Given the description of an element on the screen output the (x, y) to click on. 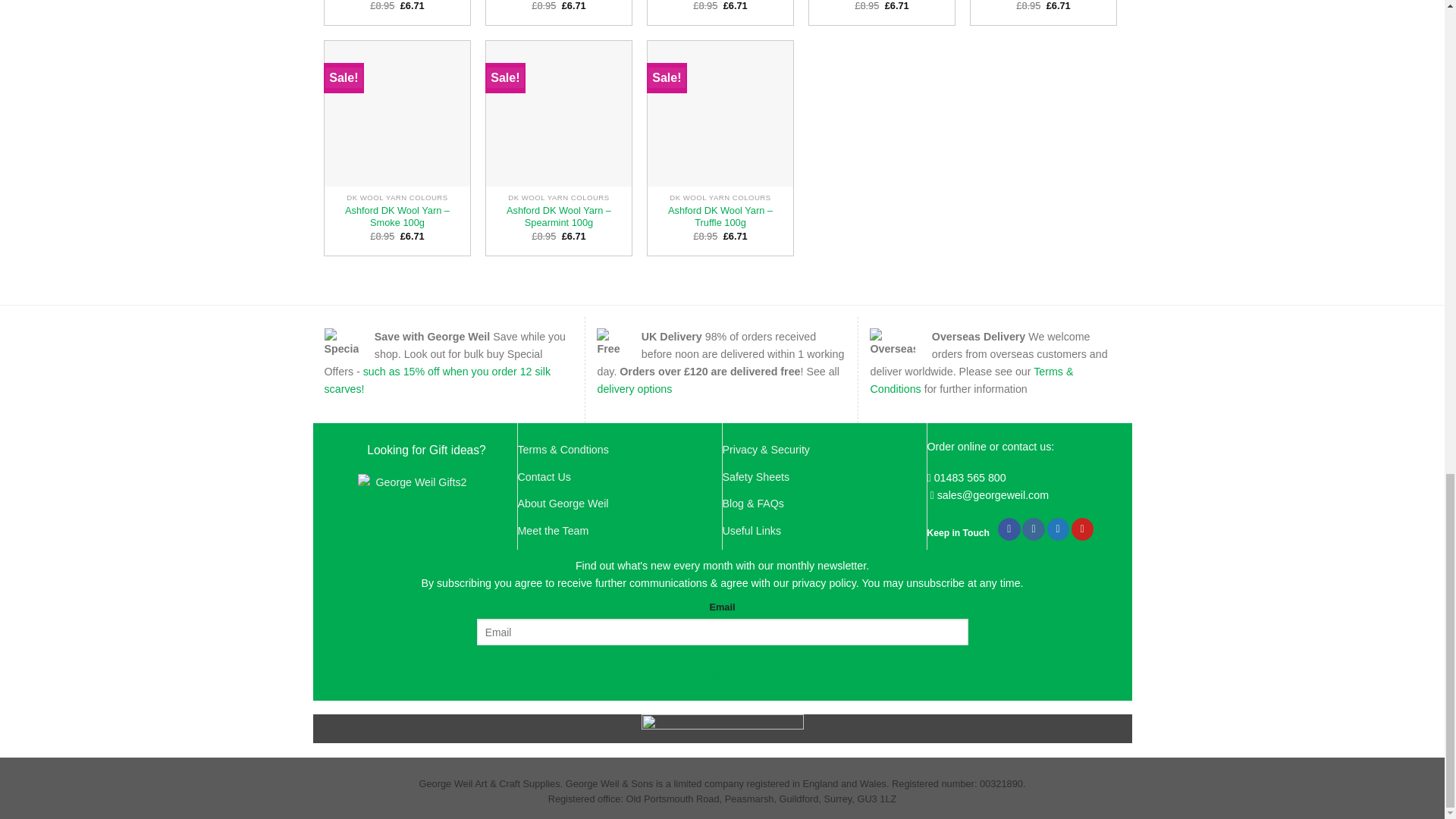
Follow on Facebook (1008, 528)
Follow on Twitter (1057, 528)
Follow on Pinterest (1082, 528)
Follow on Instagram (1032, 528)
